Given the description of an element on the screen output the (x, y) to click on. 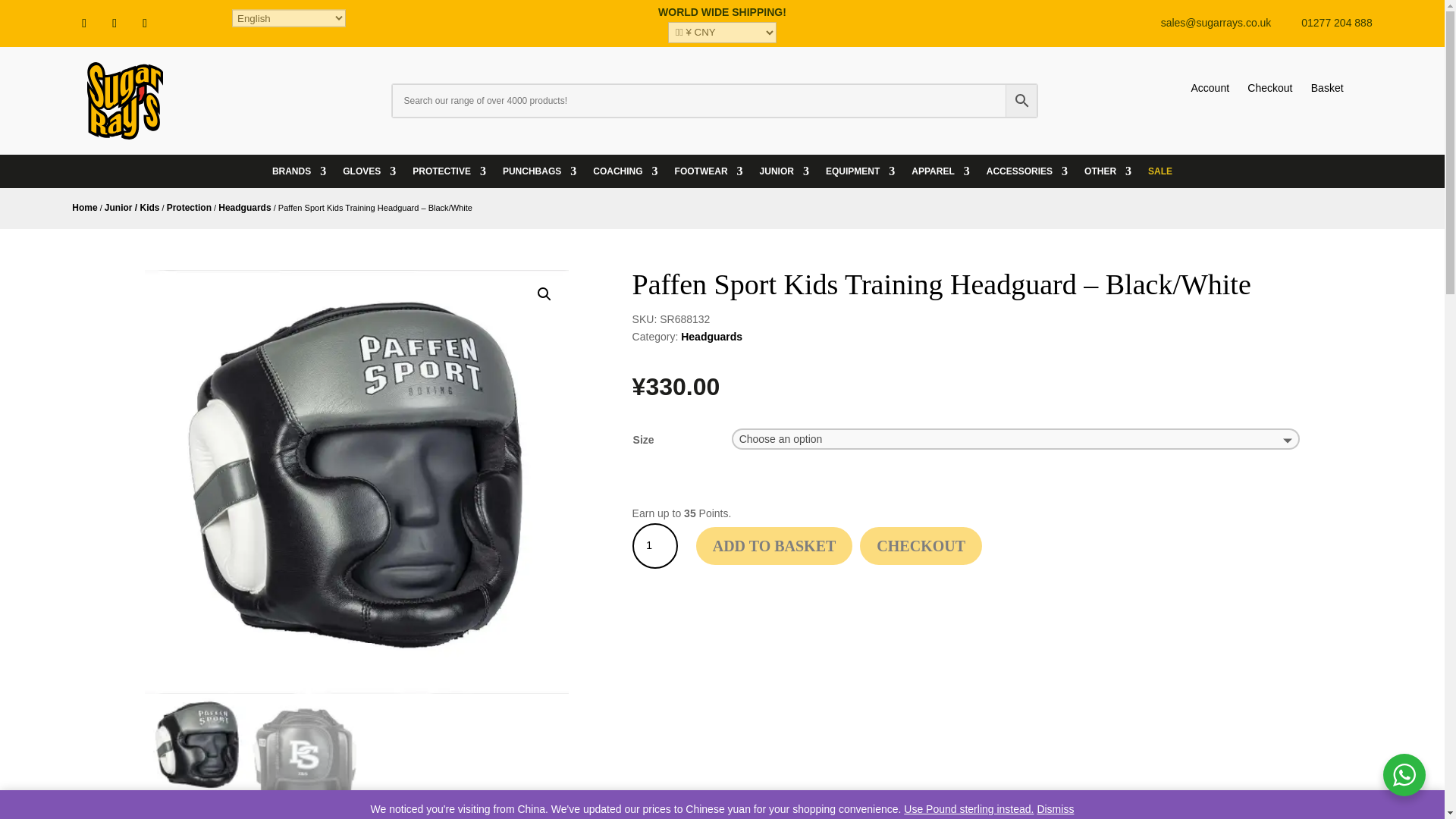
Checkout (1269, 87)
Follow on Facebook (83, 23)
01277 204 888 (1336, 22)
1 (654, 545)
Follow on Instagram (144, 23)
Follow on X (113, 23)
Account (1209, 87)
BRANDS (299, 174)
WORLD WIDE SHIPPING (720, 11)
Basket (1327, 87)
